Given the description of an element on the screen output the (x, y) to click on. 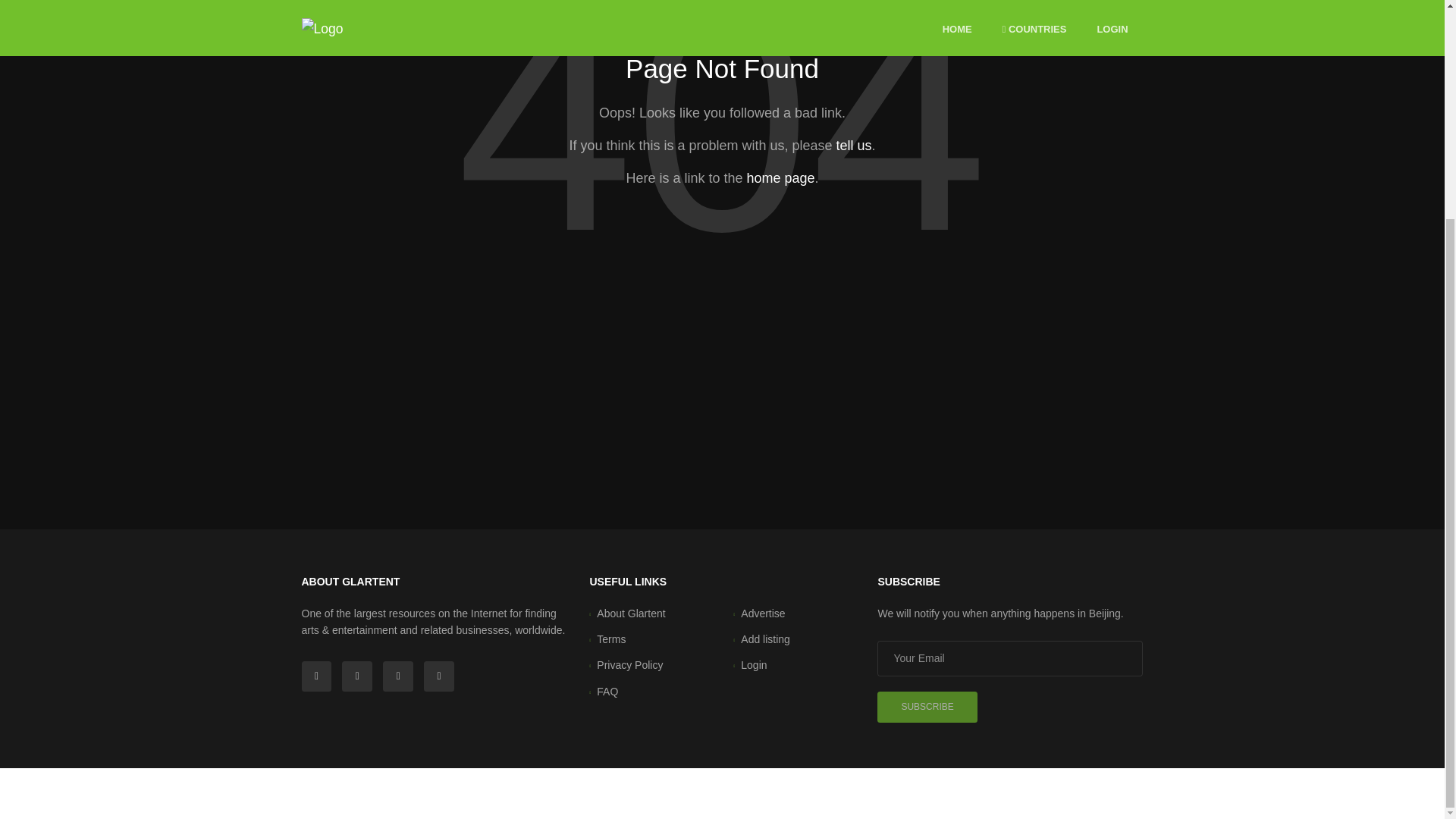
Terms (611, 638)
Add listing (765, 638)
About Glartent (630, 613)
SUBSCRIBE (926, 706)
tell us (852, 145)
FAQ (606, 691)
Advertise (762, 613)
home page (779, 177)
Login (754, 664)
Privacy Policy (629, 664)
